Given the description of an element on the screen output the (x, y) to click on. 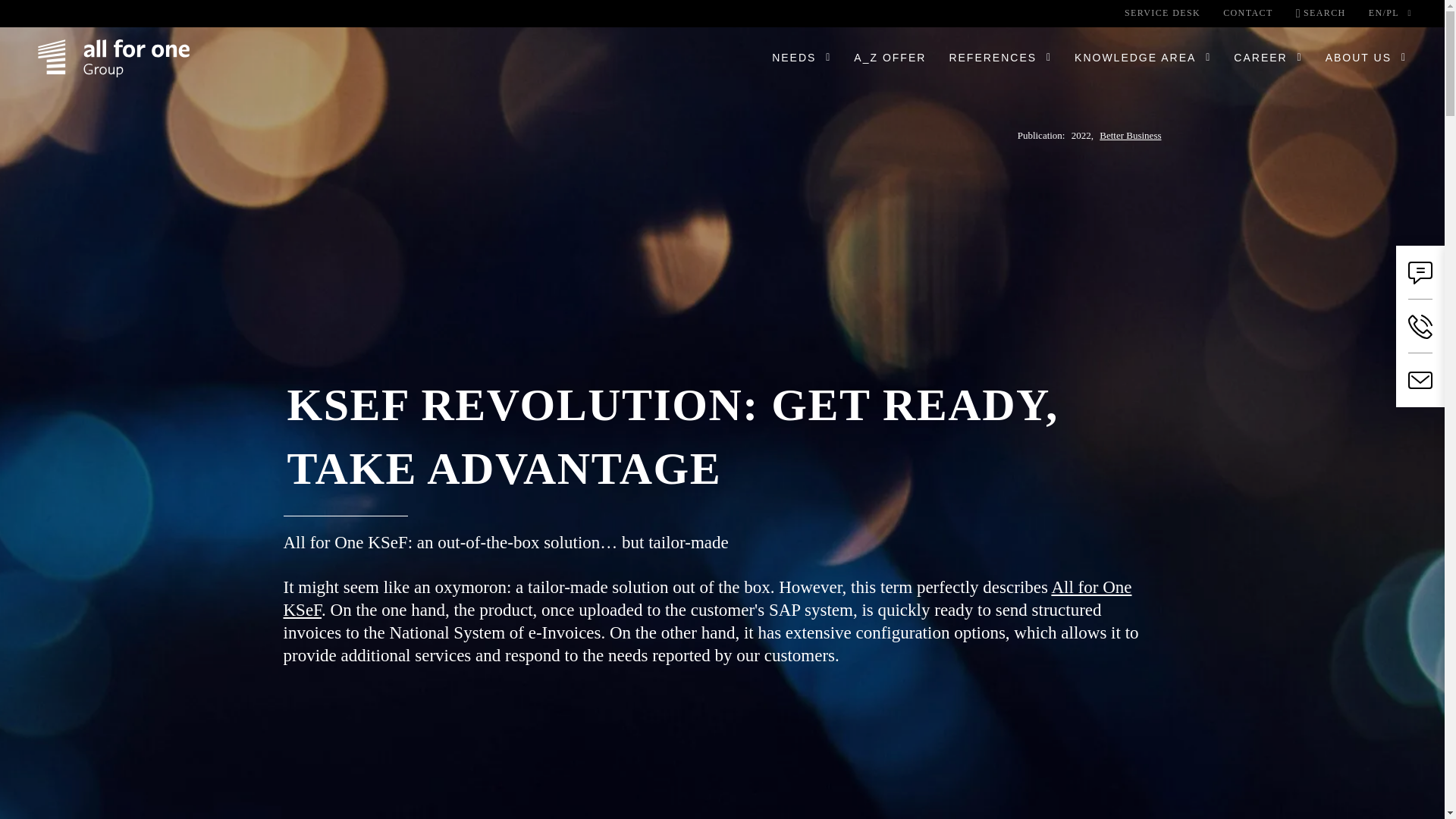
CONTACT (1247, 12)
NEEDS (793, 57)
CAREER (1260, 57)
SERVICE DESK (1161, 12)
ABOUT US (1357, 57)
KNOWLEDGE AREA (1134, 57)
SEARCH (1320, 12)
All for One Poland (113, 57)
REFERENCES (992, 57)
